Given the description of an element on the screen output the (x, y) to click on. 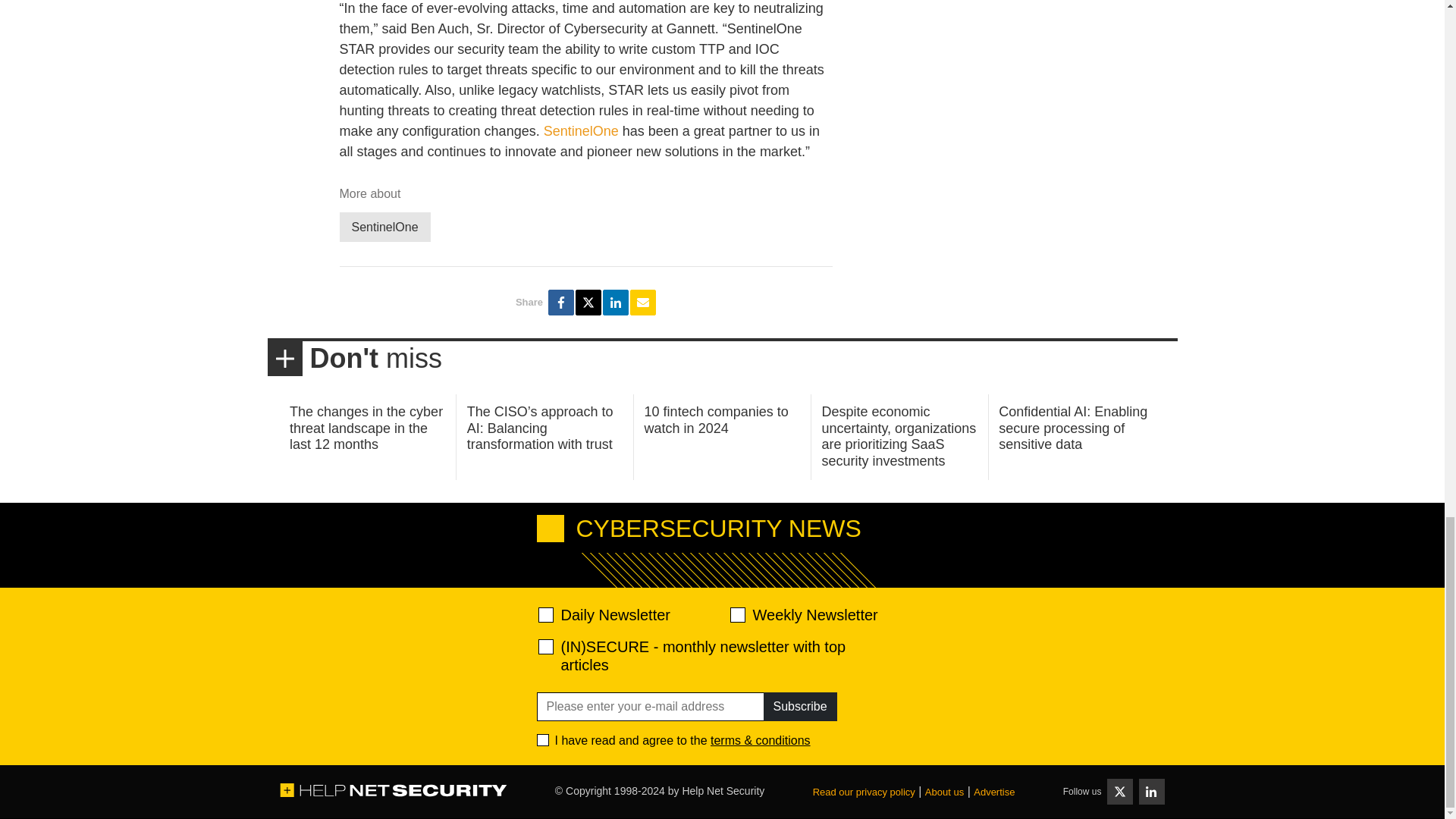
SentinelOne (384, 226)
520ac2f639 (545, 614)
1 (542, 739)
10 fintech companies to watch in 2024 (717, 419)
28abe5d9ef (545, 646)
d2d471aafa (736, 614)
SentinelOne (580, 130)
SentinelOne (384, 226)
